Given the description of an element on the screen output the (x, y) to click on. 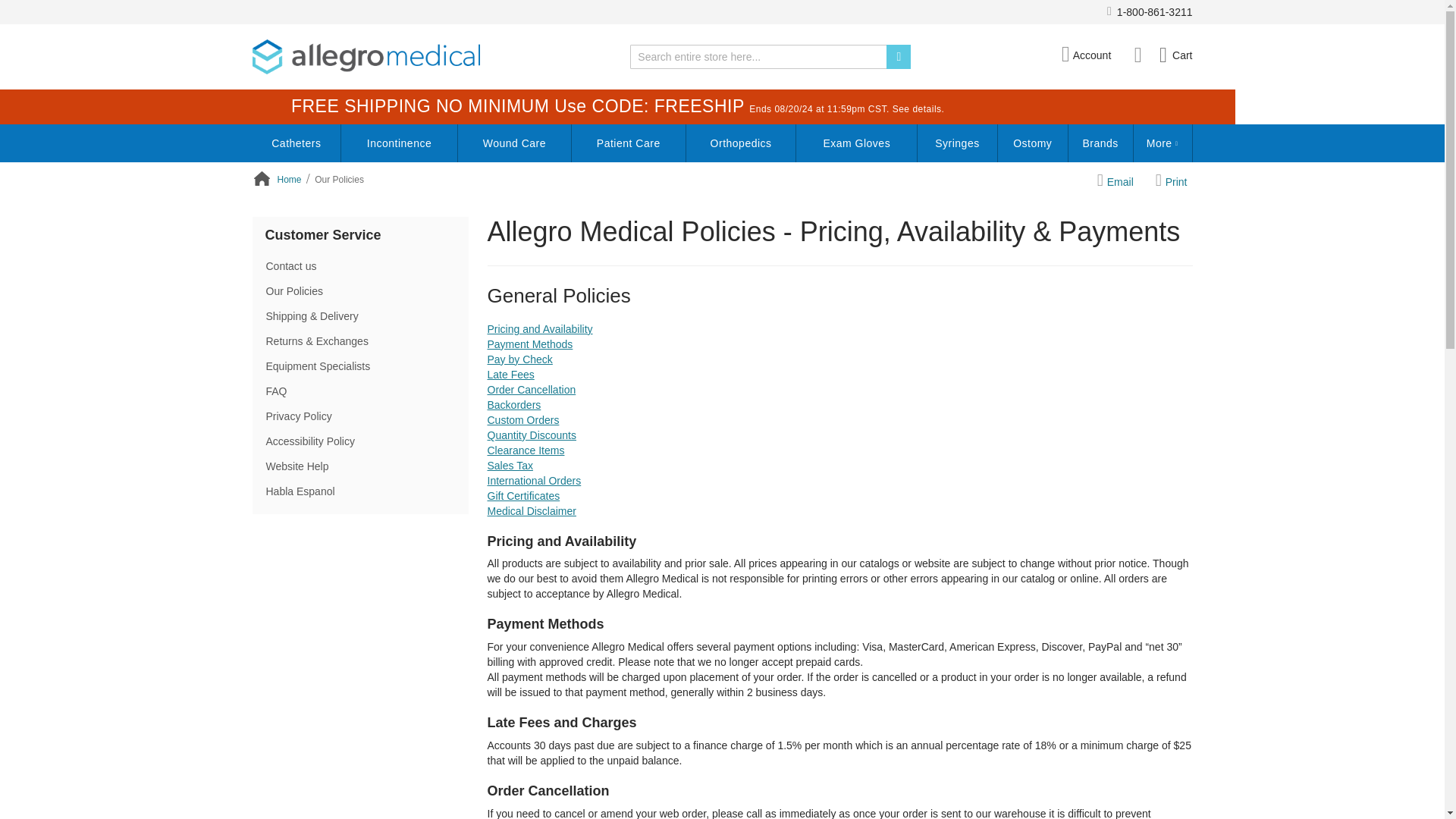
Search (898, 56)
Phone Number (1149, 11)
Cart (1175, 55)
Minicart item (1175, 55)
Catheters (295, 143)
Catheters (295, 143)
Allegro Medical Supplies Store (365, 56)
Search (898, 56)
1-800-861-3211 (1149, 11)
